Given the description of an element on the screen output the (x, y) to click on. 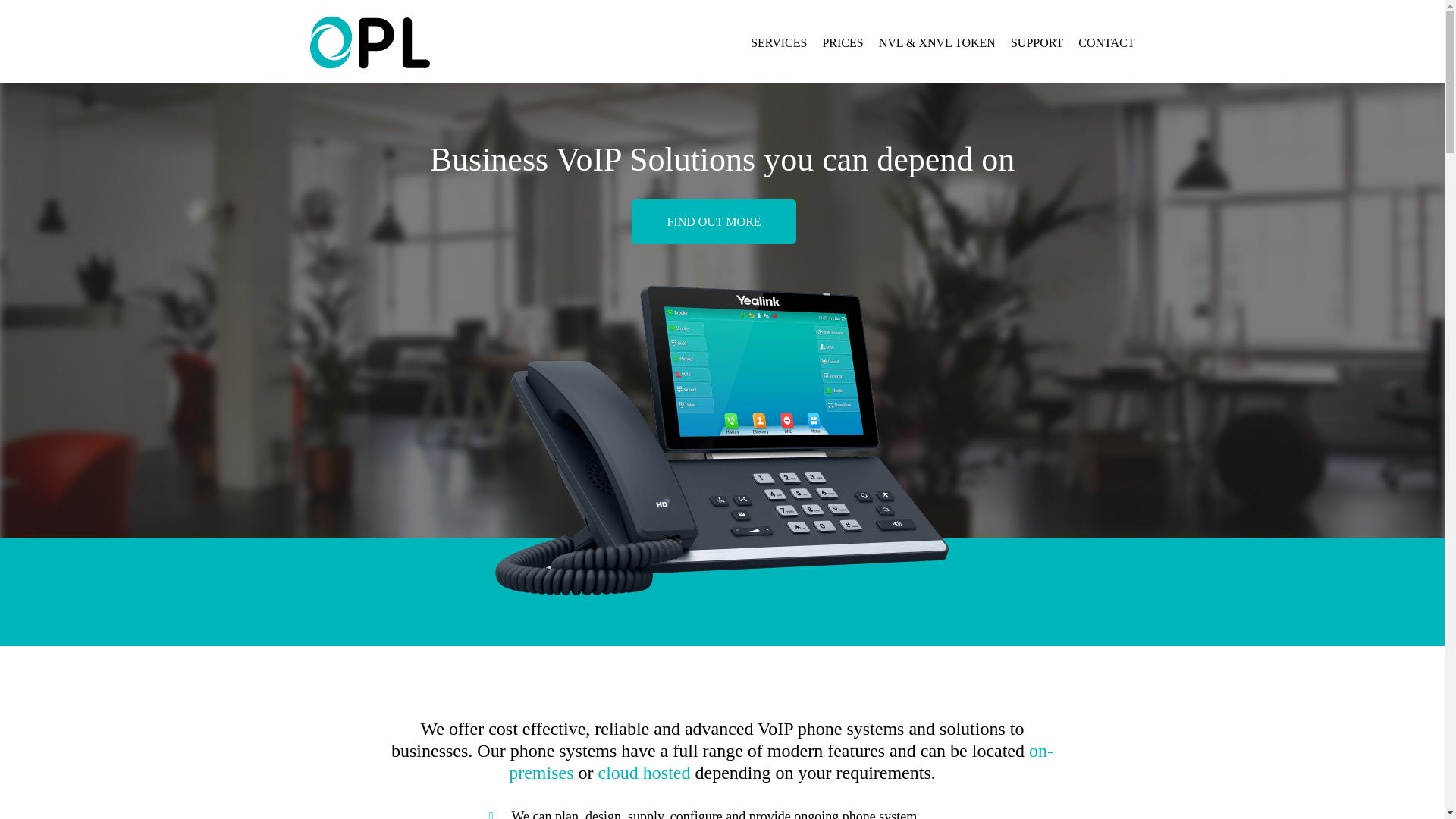
CONTACT (1106, 42)
PRICES (849, 42)
SUPPORT (1044, 42)
SERVICES (786, 42)
FIND OUT MORE (712, 221)
on-premises (780, 761)
cloud hosted (644, 772)
